Given the description of an element on the screen output the (x, y) to click on. 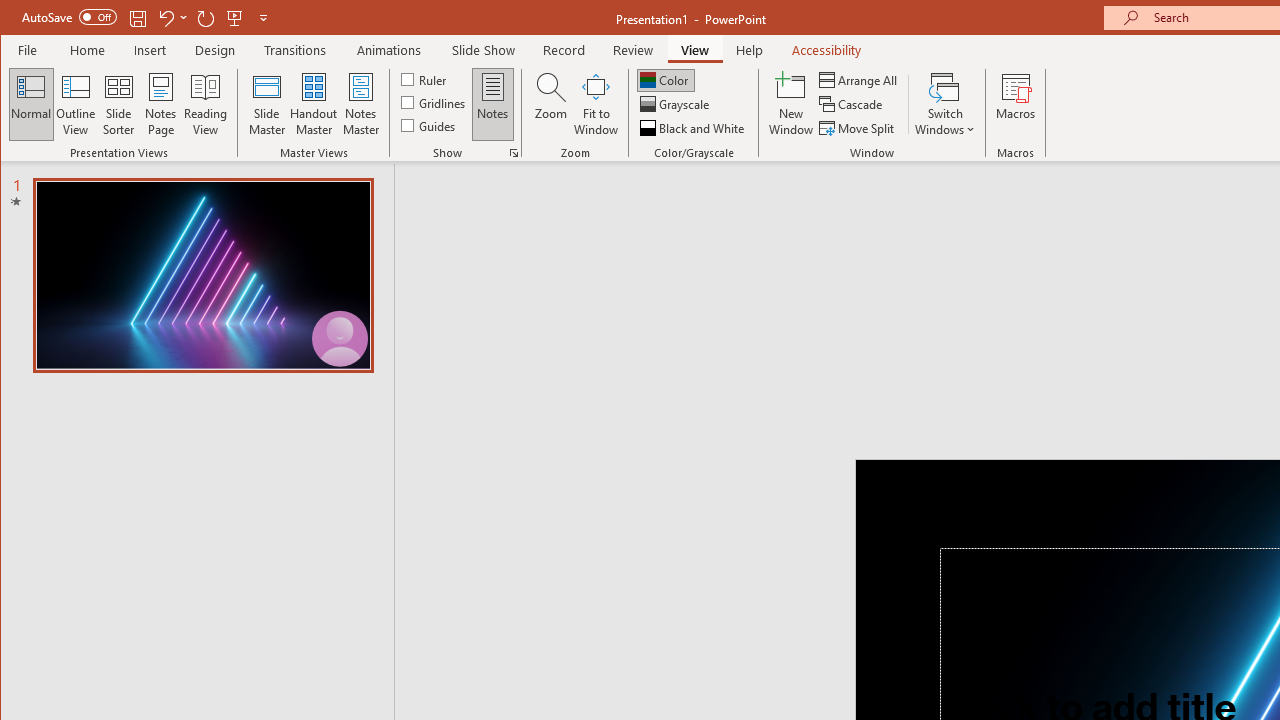
Macros (1016, 104)
Grid Settings... (513, 152)
Notes Page (160, 104)
Notes (493, 104)
Gridlines (435, 101)
Outline View (75, 104)
